Given the description of an element on the screen output the (x, y) to click on. 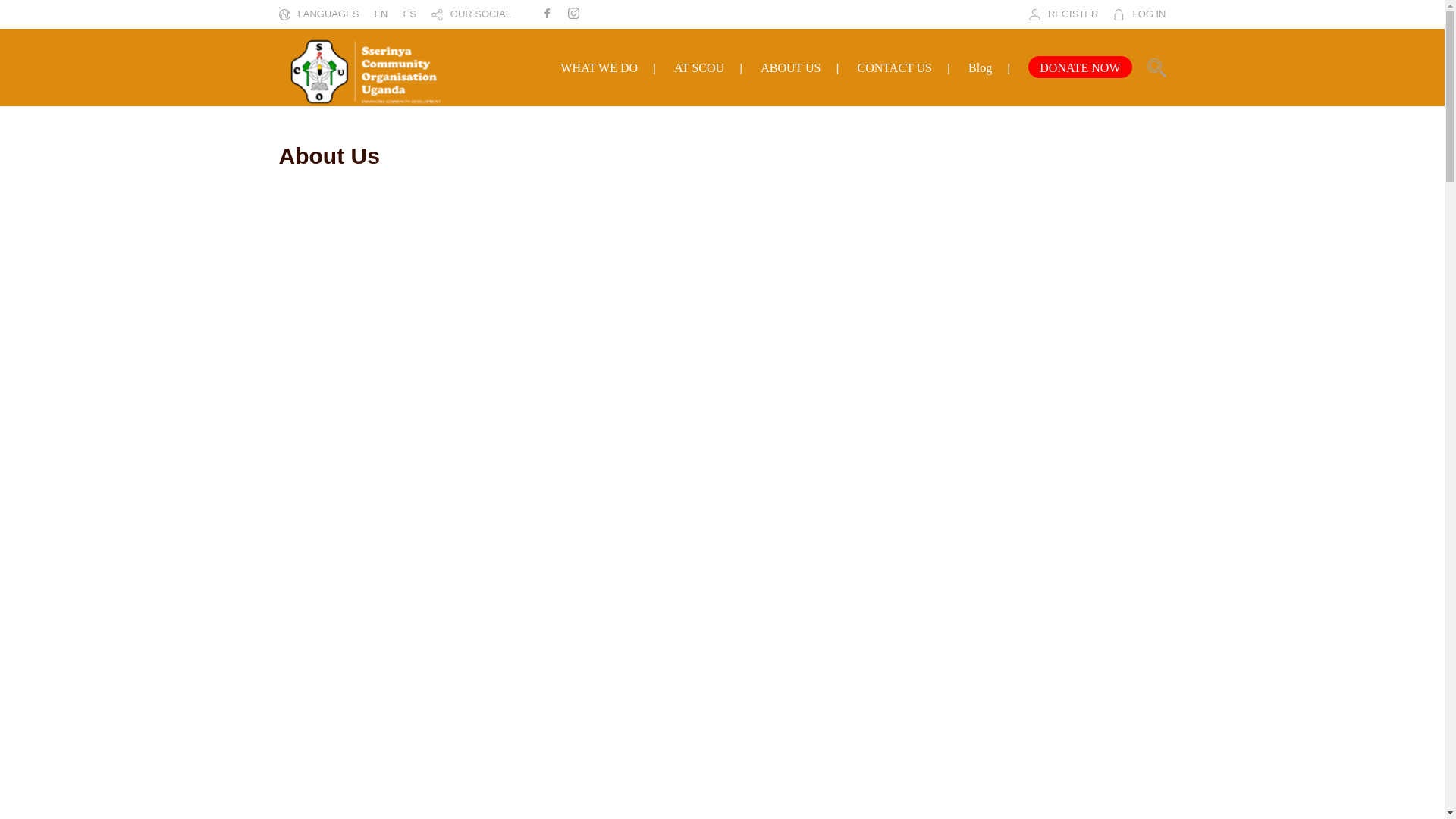
ES (408, 13)
REGISTER (1072, 13)
Search (890, 409)
ABOUT US (790, 67)
LOG IN (1149, 13)
EN (380, 13)
DONATE NOW (1079, 67)
AT SCOU (698, 67)
WHAT WE DO (598, 67)
LANGUAGES (327, 13)
Blog (979, 67)
CONTACT US (894, 67)
OUR SOCIAL (480, 13)
